Given the description of an element on the screen output the (x, y) to click on. 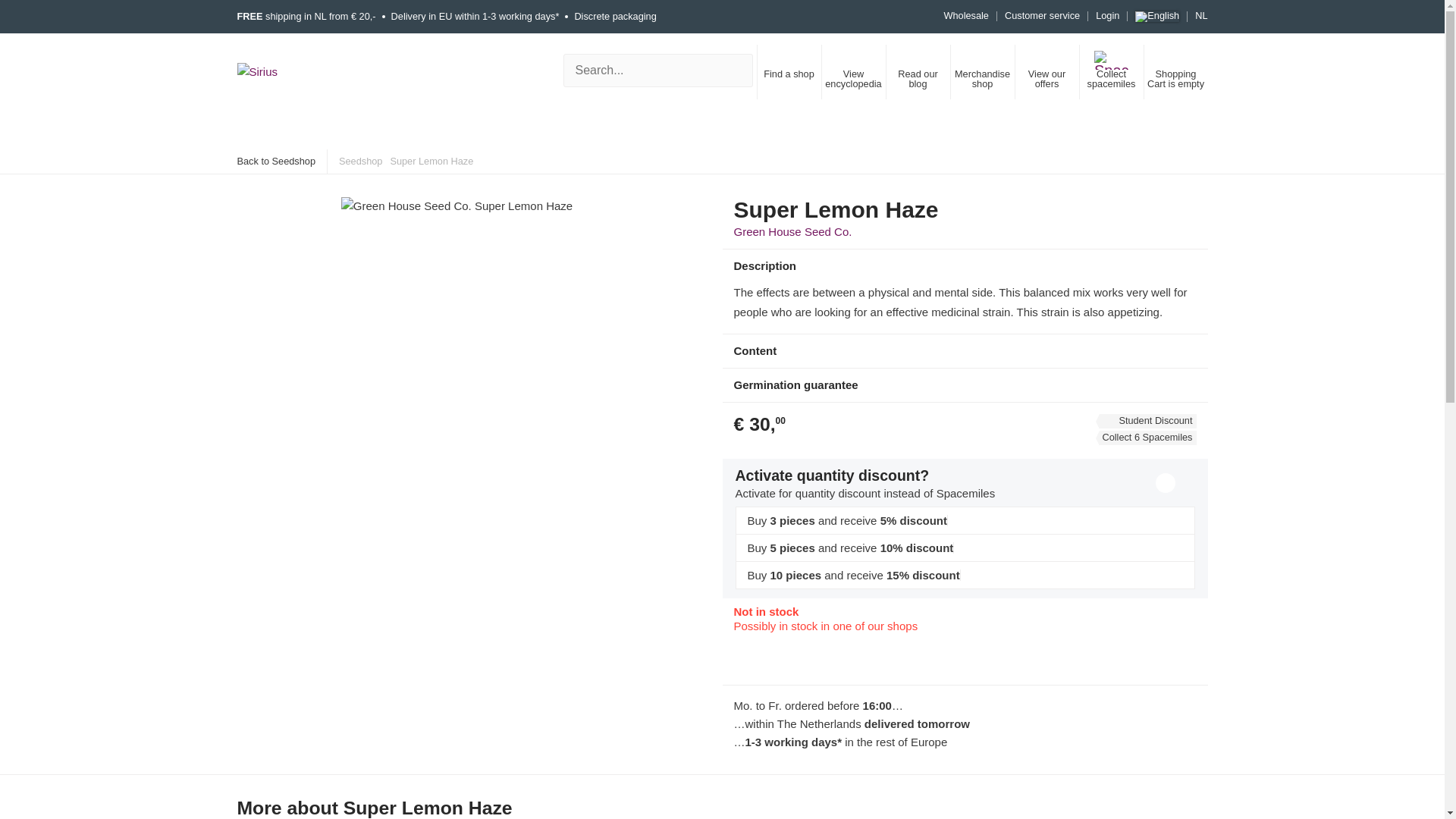
Collect spacemiles (1110, 72)
Read our blog (917, 72)
Merchandise shop (981, 72)
Wholesale (970, 16)
View encyclopedia (853, 72)
View our offers (1046, 72)
Shopping Cart is empty (1175, 72)
Customer service (1042, 16)
Find a shop (789, 72)
Smartshop (280, 129)
